Given the description of an element on the screen output the (x, y) to click on. 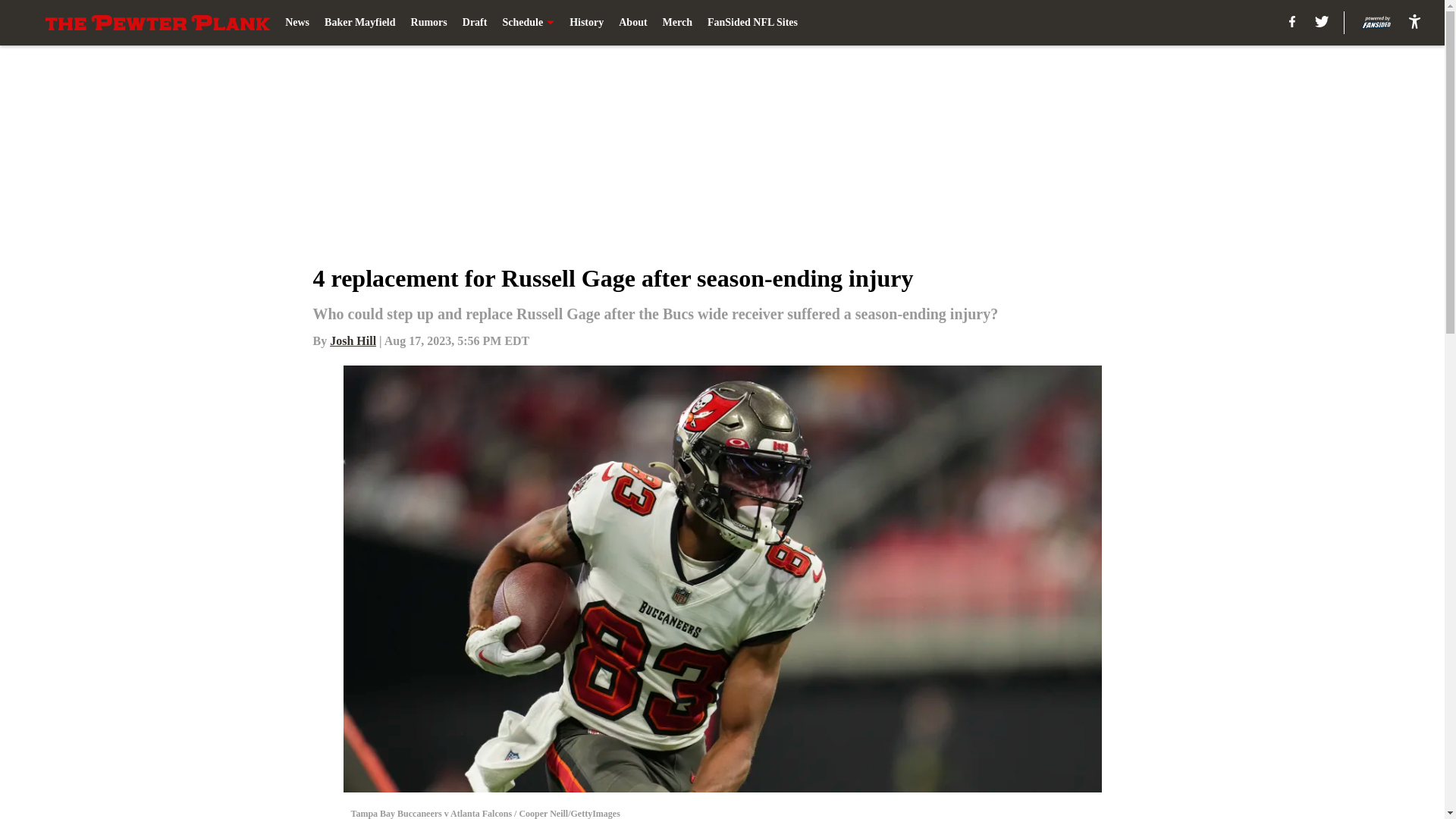
FanSided NFL Sites (752, 22)
Draft (475, 22)
Baker Mayfield (359, 22)
About (632, 22)
Josh Hill (352, 340)
News (296, 22)
Rumors (428, 22)
History (586, 22)
Merch (677, 22)
